Given the description of an element on the screen output the (x, y) to click on. 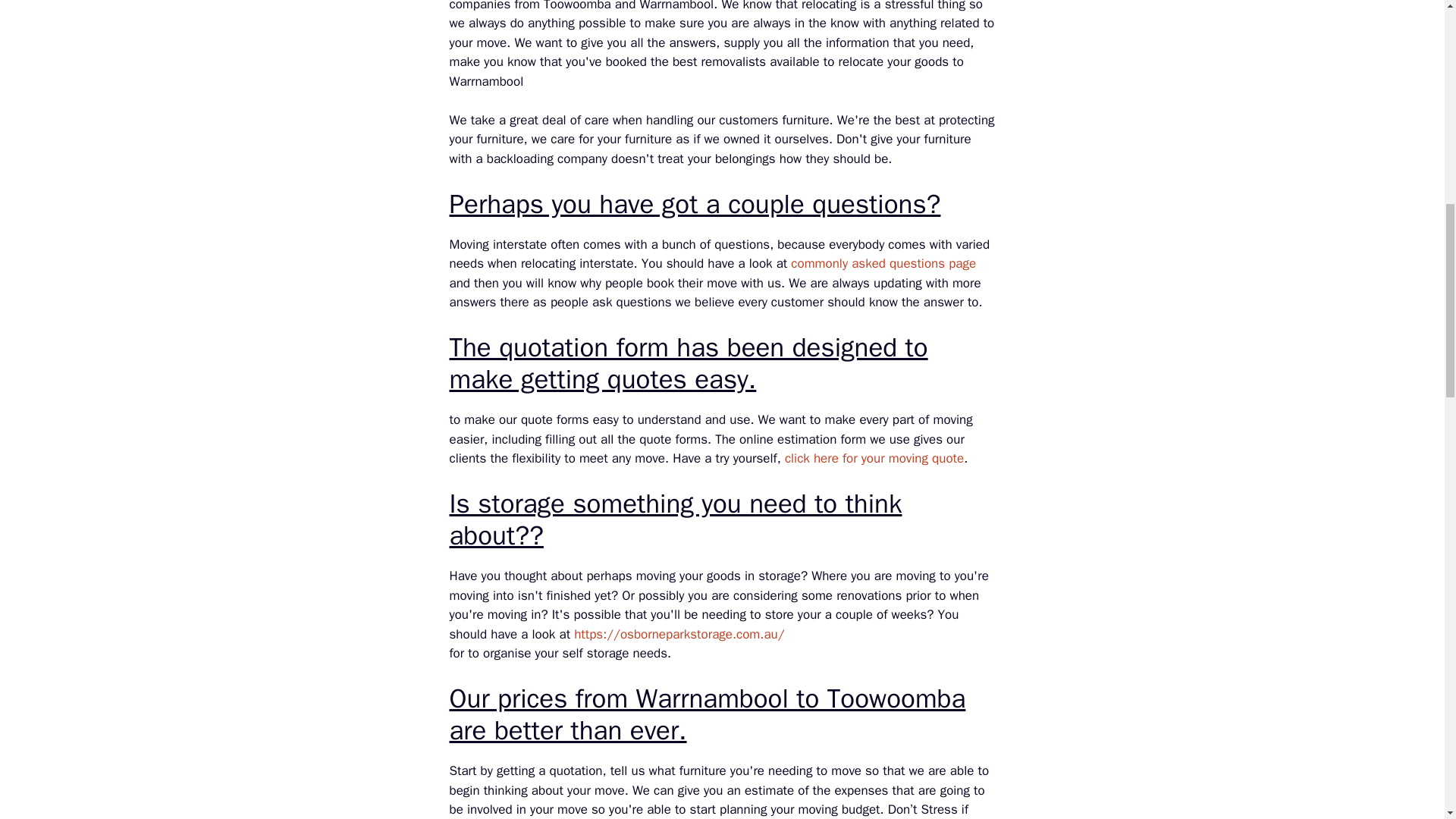
Self Storage (678, 634)
commonly asked questions page (882, 263)
click here for your moving quote (873, 458)
Scroll back to top (1406, 720)
